Given the description of an element on the screen output the (x, y) to click on. 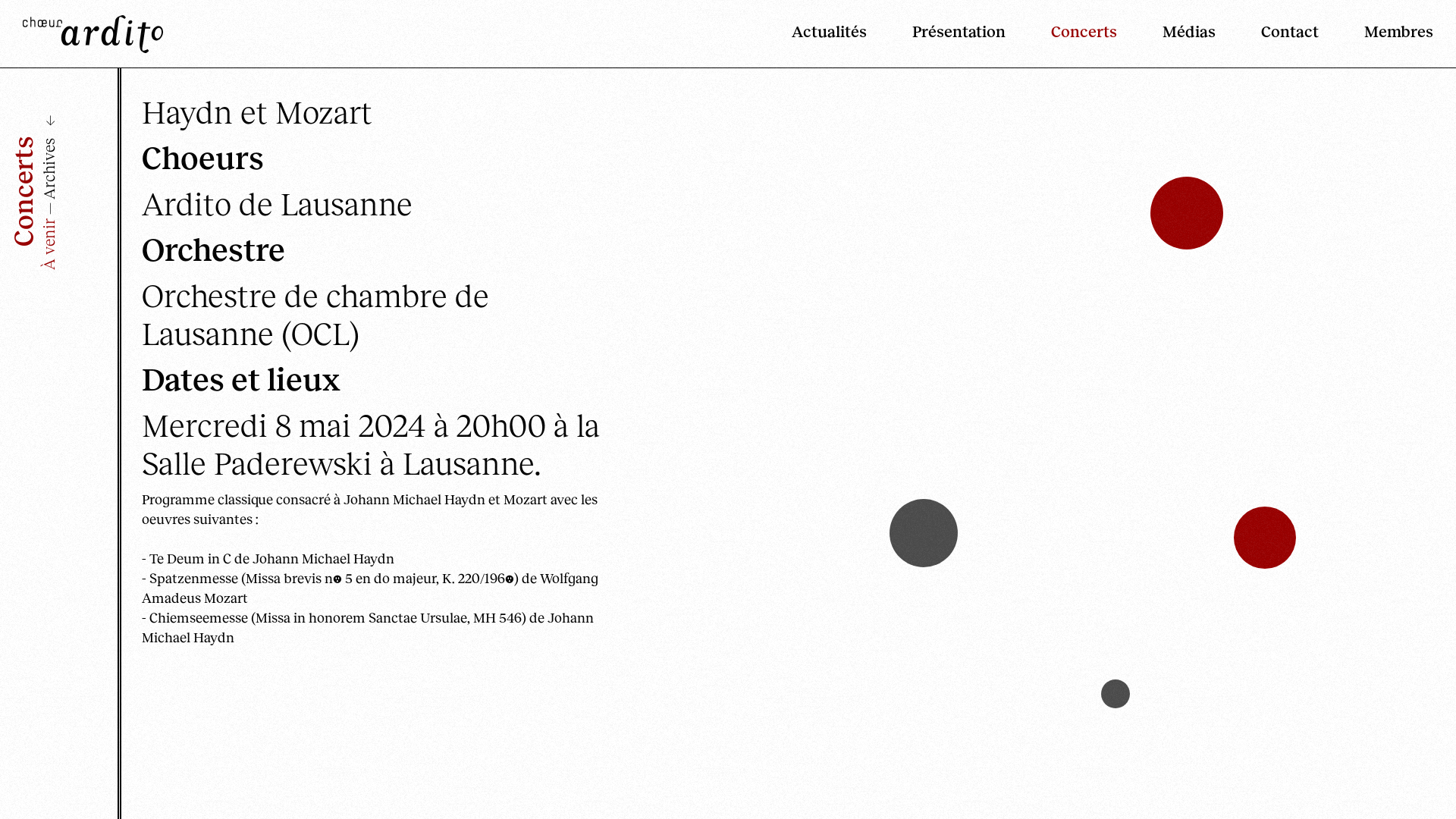
Membres Element type: text (1375, 29)
Concerts Element type: text (1061, 29)
Archives Element type: text (46, 170)
Contact Element type: text (1266, 29)
